Given the description of an element on the screen output the (x, y) to click on. 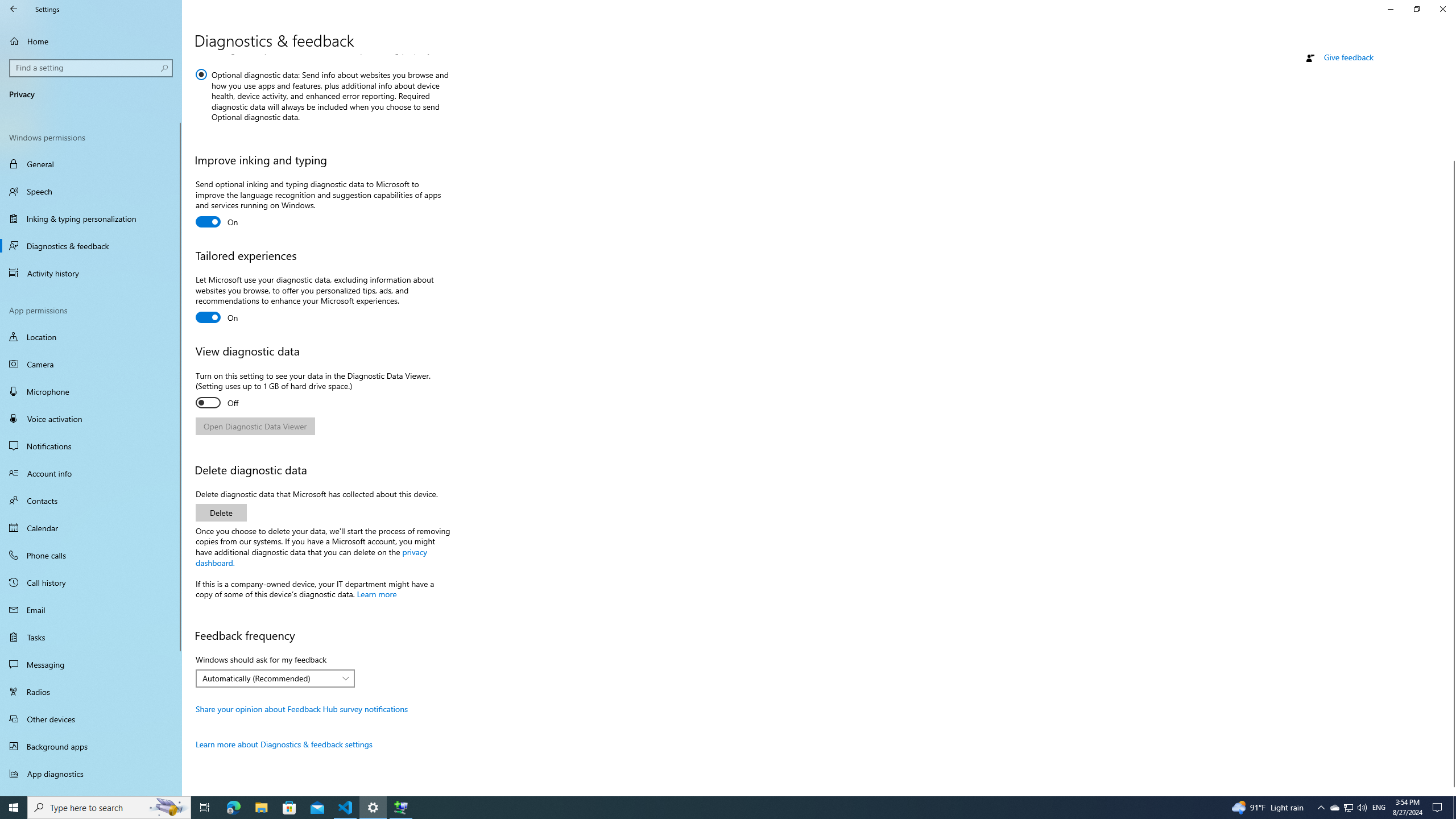
Running applications (706, 807)
Background apps (91, 746)
Extensible Wizards Host Process - 1 running window (400, 807)
Restore Settings (1416, 9)
Location (91, 336)
Phone calls (91, 554)
Open Diagnostic Data Viewer (254, 425)
Close Settings (1442, 9)
Back (13, 9)
Vertical Small Decrease (1451, 58)
